Given the description of an element on the screen output the (x, y) to click on. 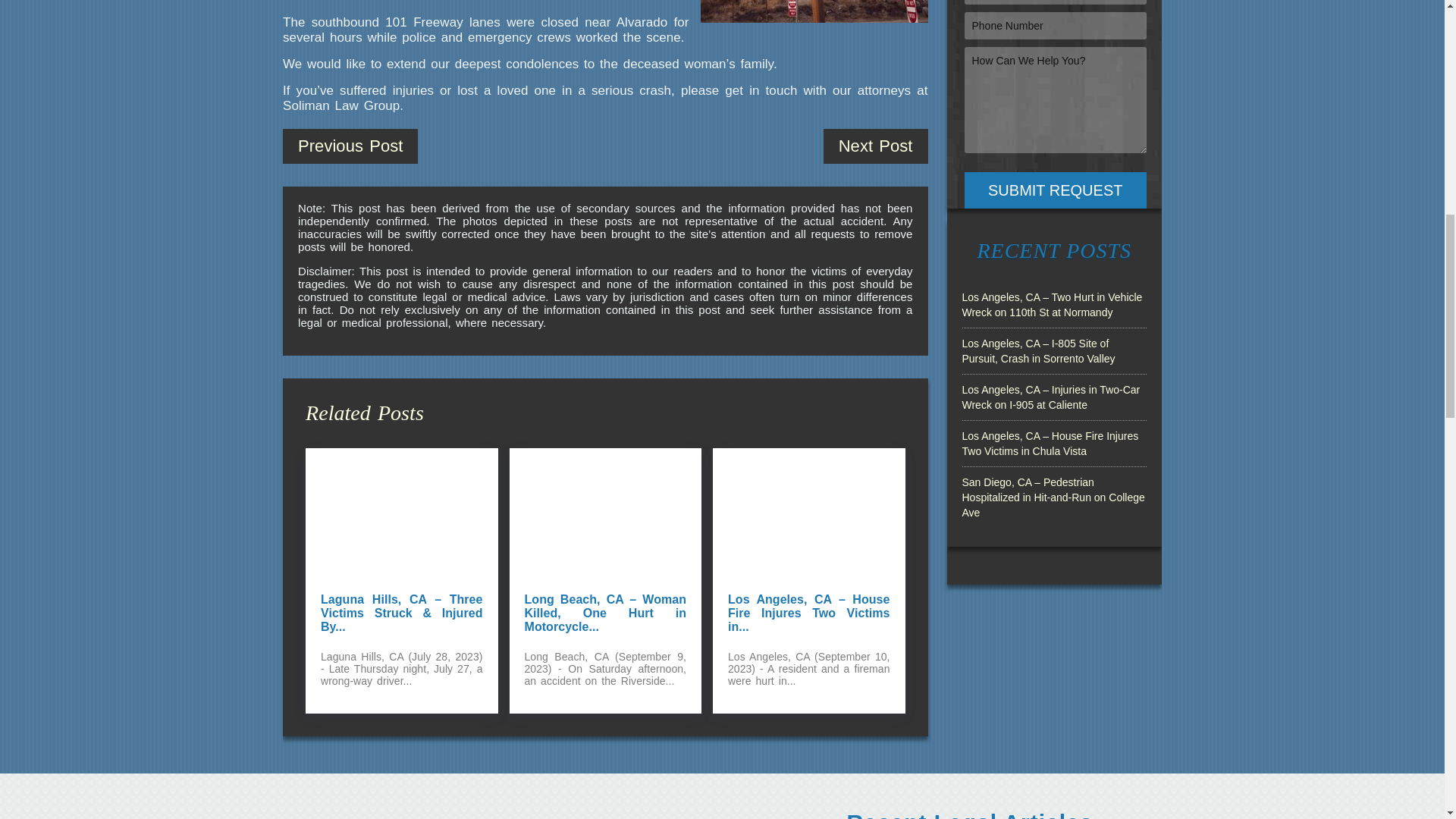
SUBMIT REQUEST (1055, 189)
